Given the description of an element on the screen output the (x, y) to click on. 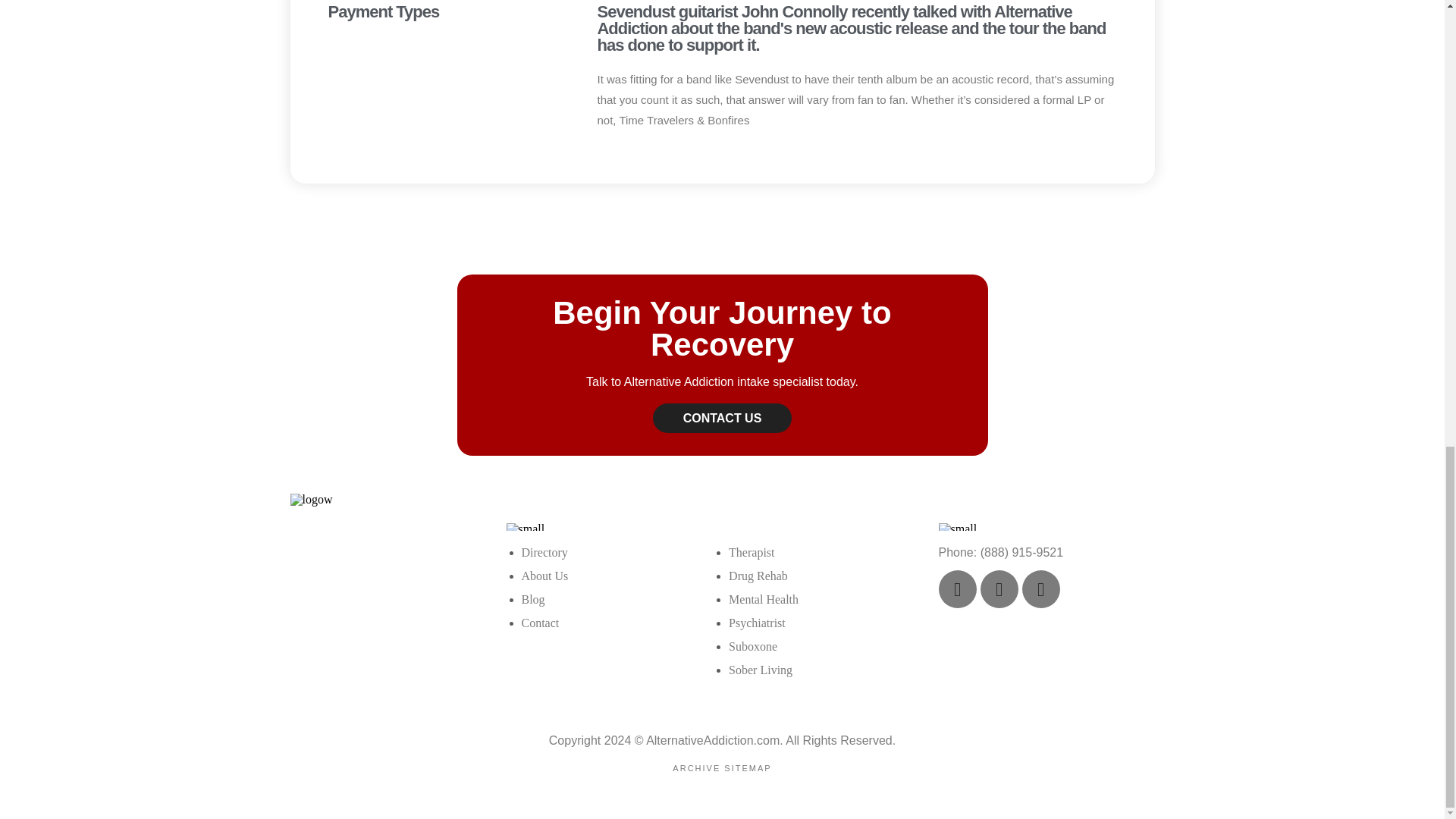
Contact (540, 622)
Therapist (751, 552)
SITEMAP (747, 768)
Drug Rehab (758, 575)
CONTACT US (722, 418)
Mental Health (763, 599)
Psychiatrist (757, 622)
Blog (532, 599)
Suboxone (753, 645)
ARCHIVE (696, 768)
Directory (544, 552)
Sober Living (760, 669)
About Us (545, 575)
